Given the description of an element on the screen output the (x, y) to click on. 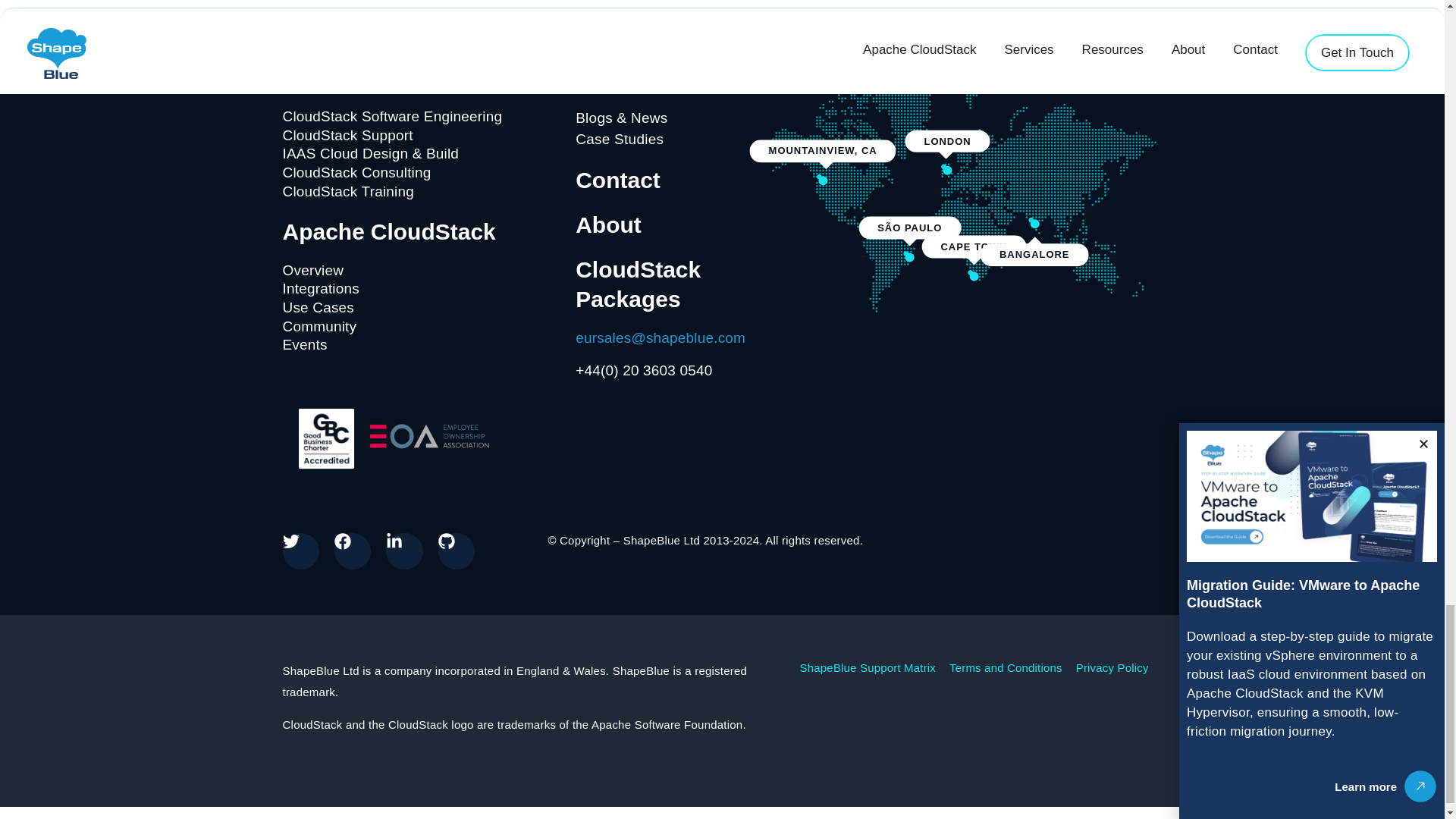
gbc-accredited-stamp-transparent-white-rgb (325, 438)
